Given the description of an element on the screen output the (x, y) to click on. 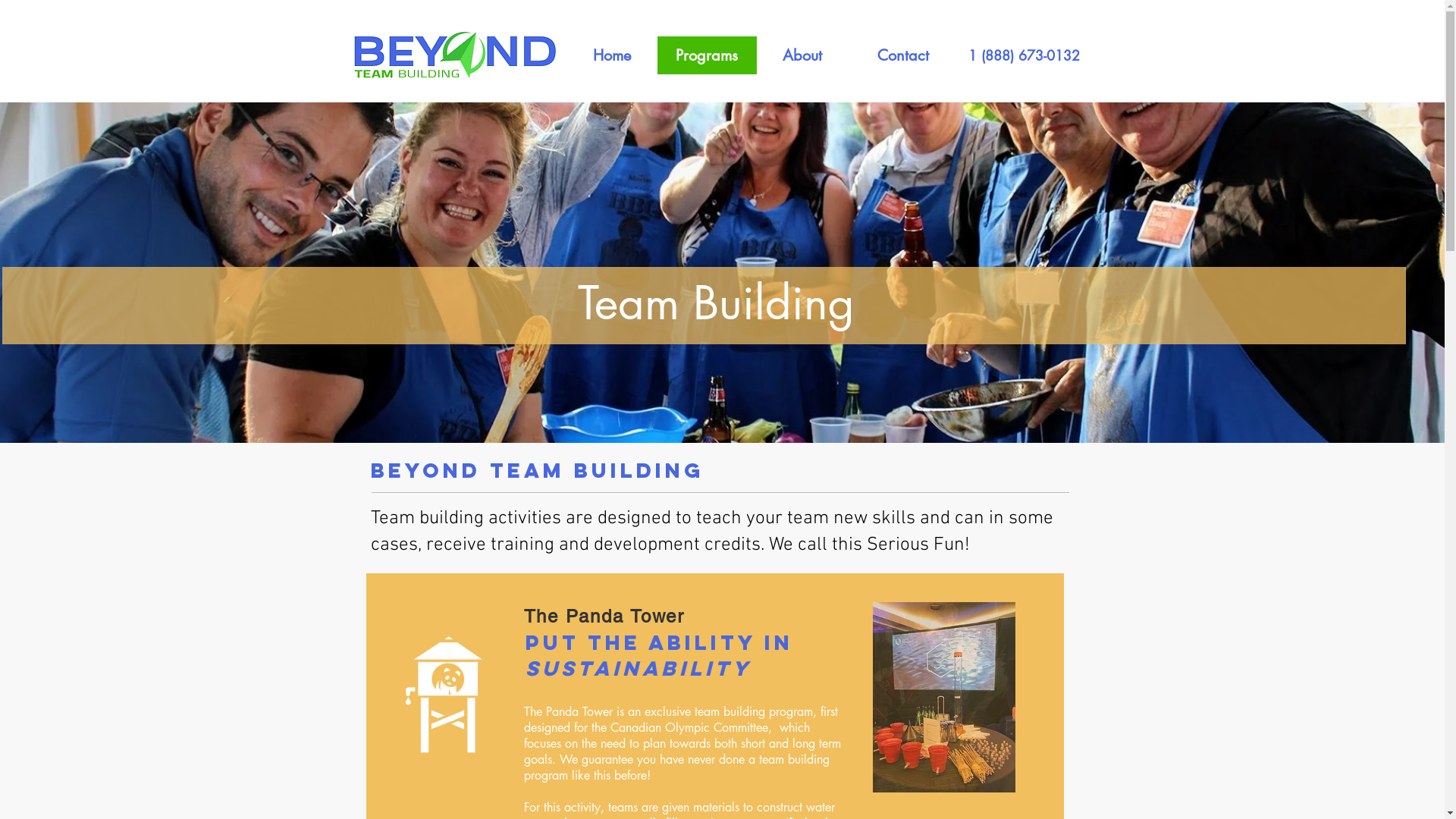
About Element type: text (802, 55)
Programs Element type: text (706, 55)
Home Element type: text (611, 55)
Contact Element type: text (902, 55)
